Given the description of an element on the screen output the (x, y) to click on. 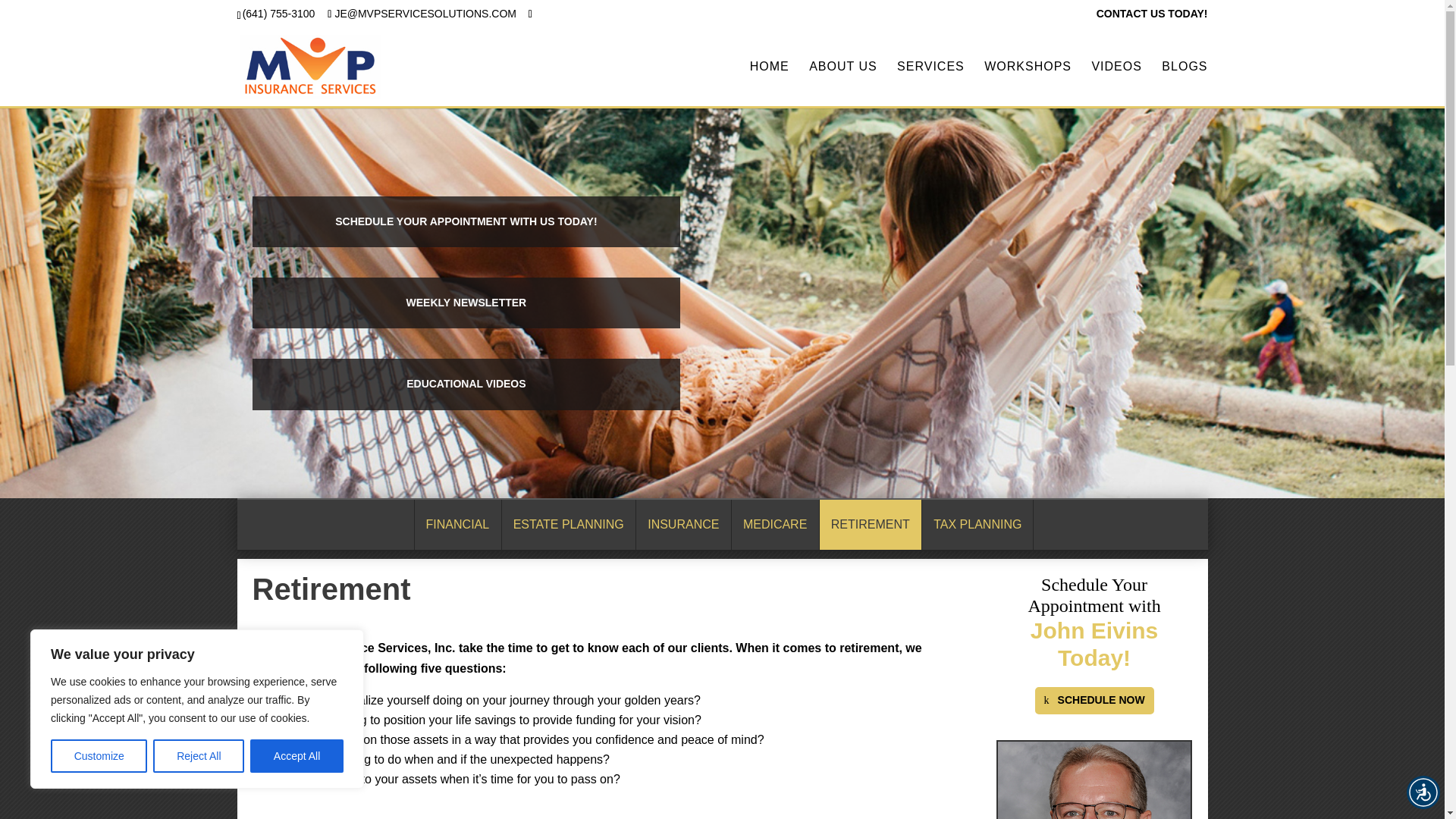
WEEKLY NEWSLETTER (465, 302)
SERVICES (929, 83)
ESTATE PLANNING (567, 524)
Customize (98, 756)
ABOUT US (843, 83)
WORKSHOPS (1027, 83)
SCHEDULE YOUR APPOINTMENT WITH US TODAY! (465, 221)
Accessibility Menu (1422, 792)
FINANCIAL (456, 524)
Accept All (296, 756)
EDUCATIONAL VIDEOS (465, 383)
BLOGS (1184, 83)
john (1094, 780)
VIDEOS (1115, 83)
INSURANCE (682, 524)
